Given the description of an element on the screen output the (x, y) to click on. 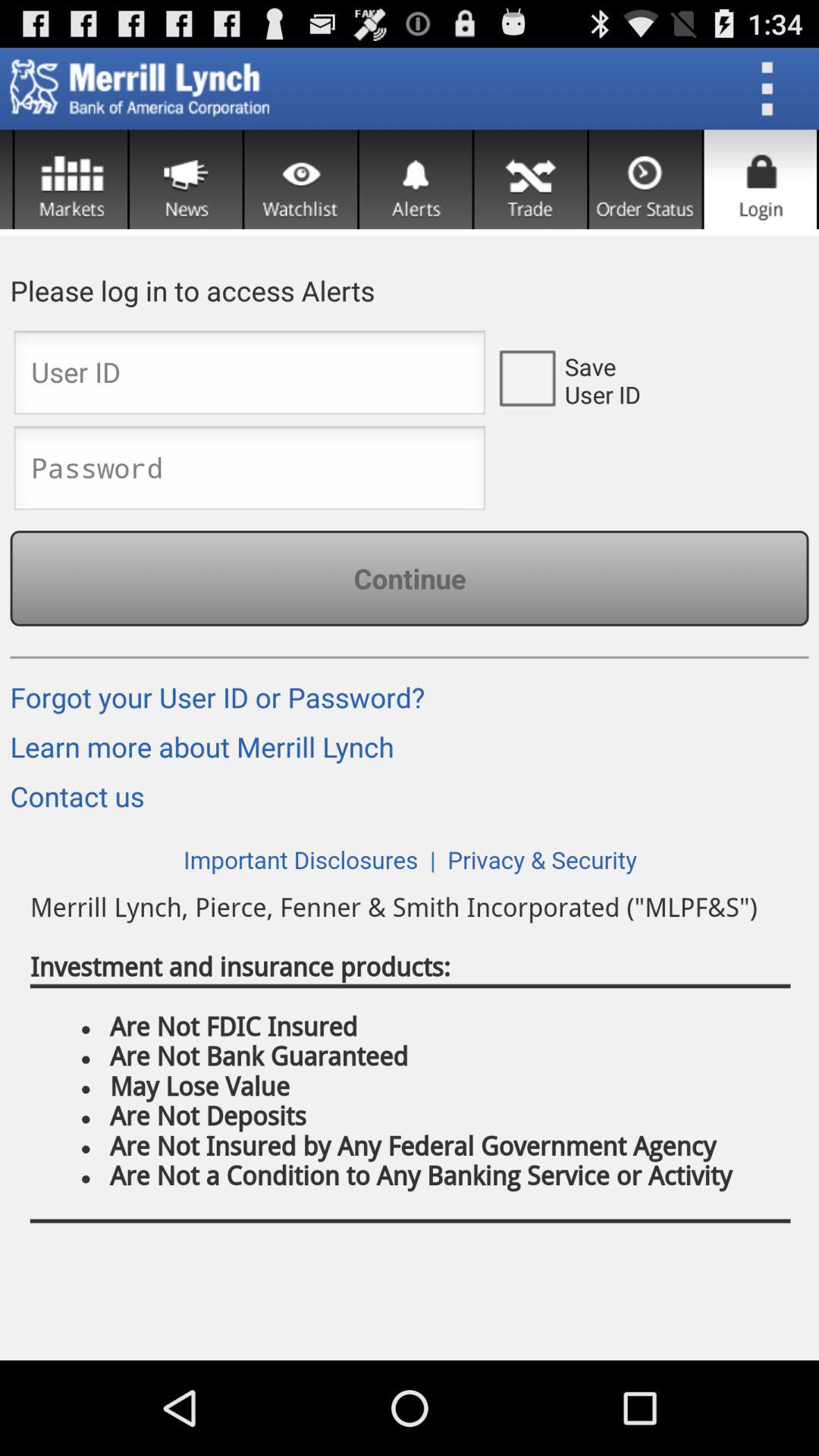
see markets (70, 179)
